Given the description of an element on the screen output the (x, y) to click on. 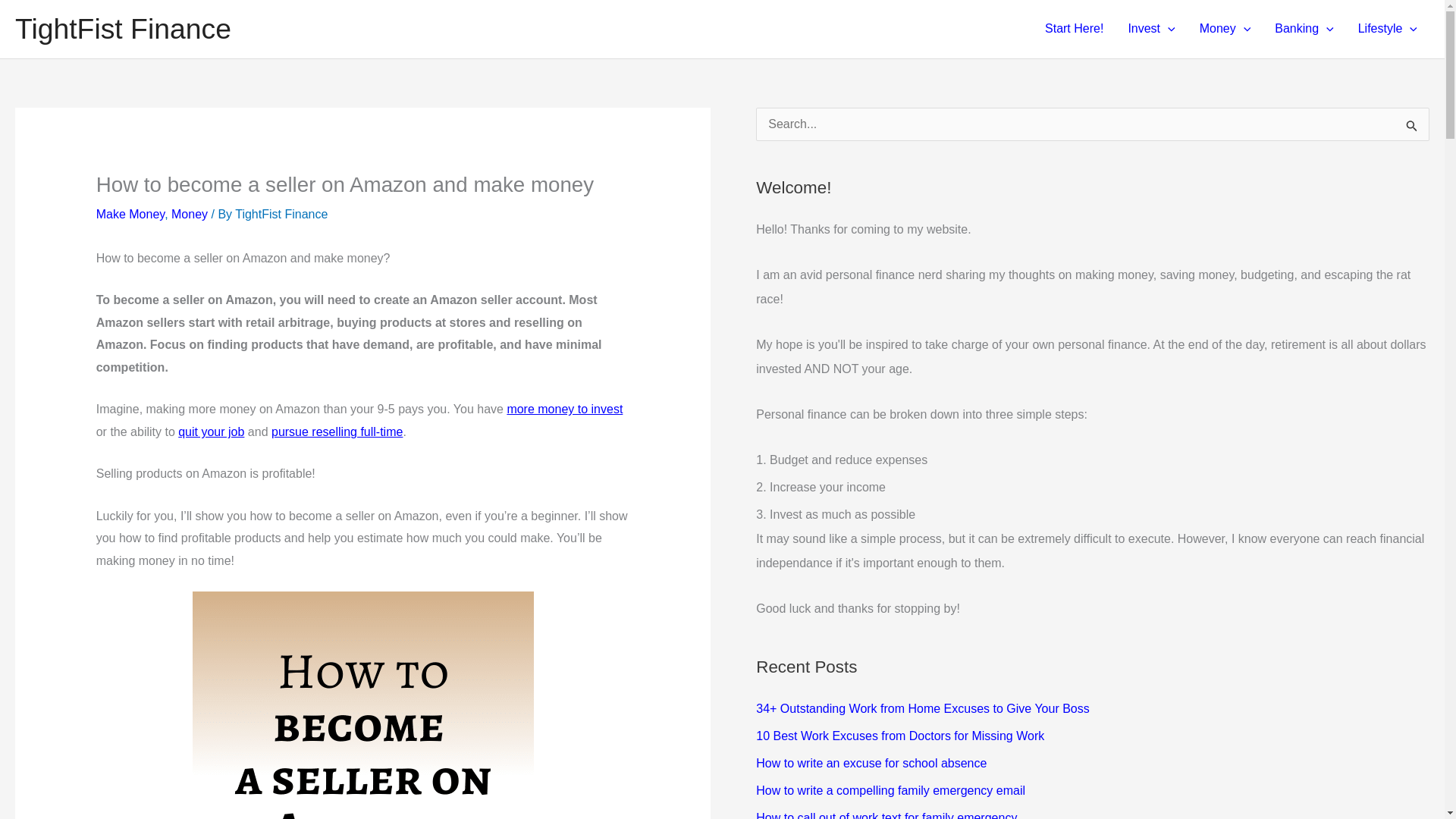
TightFist Finance (122, 29)
Lifestyle (1387, 28)
quit your job (210, 431)
View all posts by TightFist Finance (280, 214)
Money (189, 214)
Start Here! (1073, 28)
Banking (1303, 28)
Invest (1150, 28)
TightFist Finance (280, 214)
Make Money (130, 214)
